Given the description of an element on the screen output the (x, y) to click on. 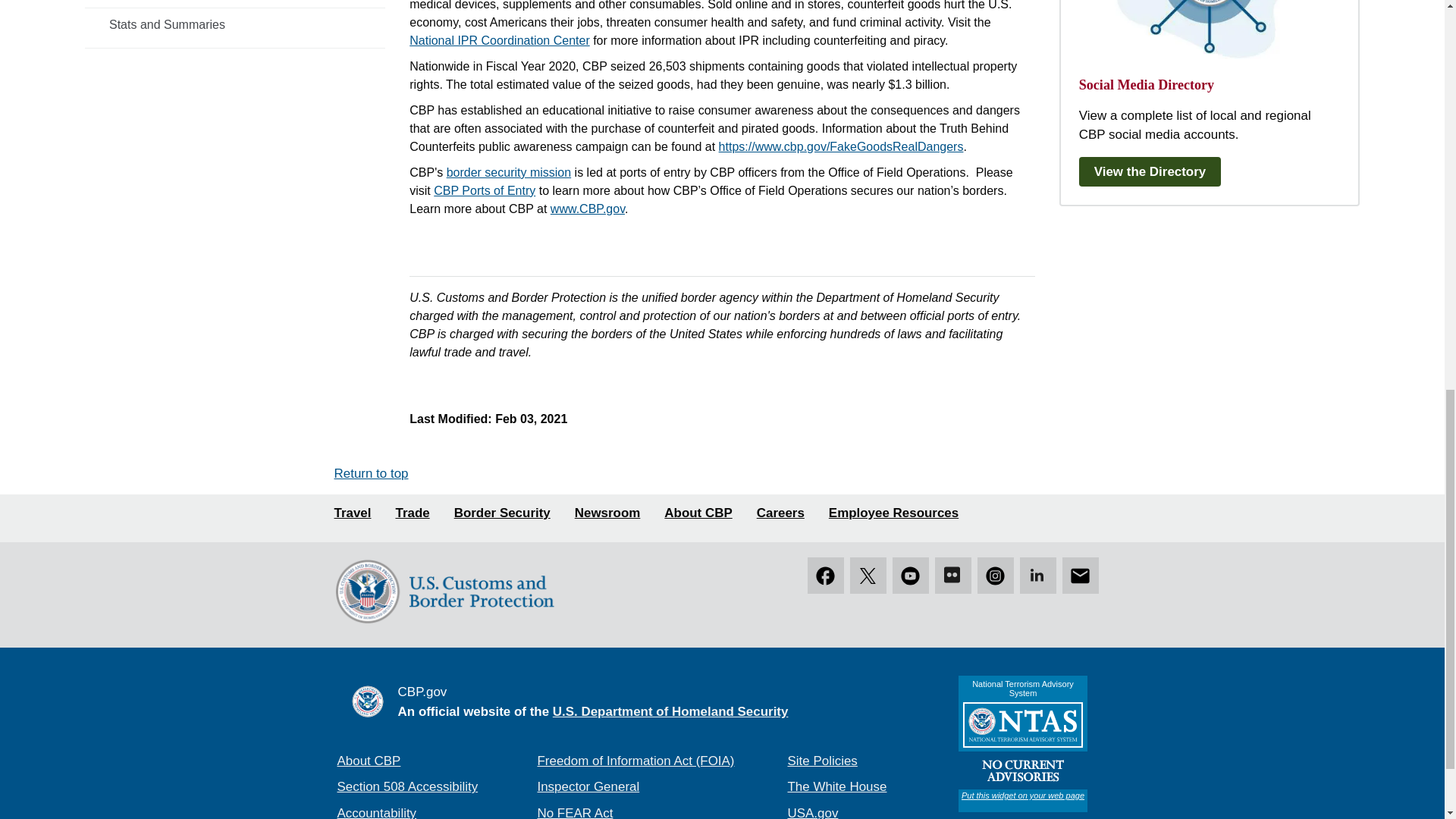
Spotlights (234, 2)
Travel (352, 513)
Border Security (502, 513)
Stats and Summaries (234, 24)
About (697, 513)
National Terrorism Advisory System (1022, 743)
Careers (781, 513)
Newsroom (607, 513)
Trade (411, 513)
